Given the description of an element on the screen output the (x, y) to click on. 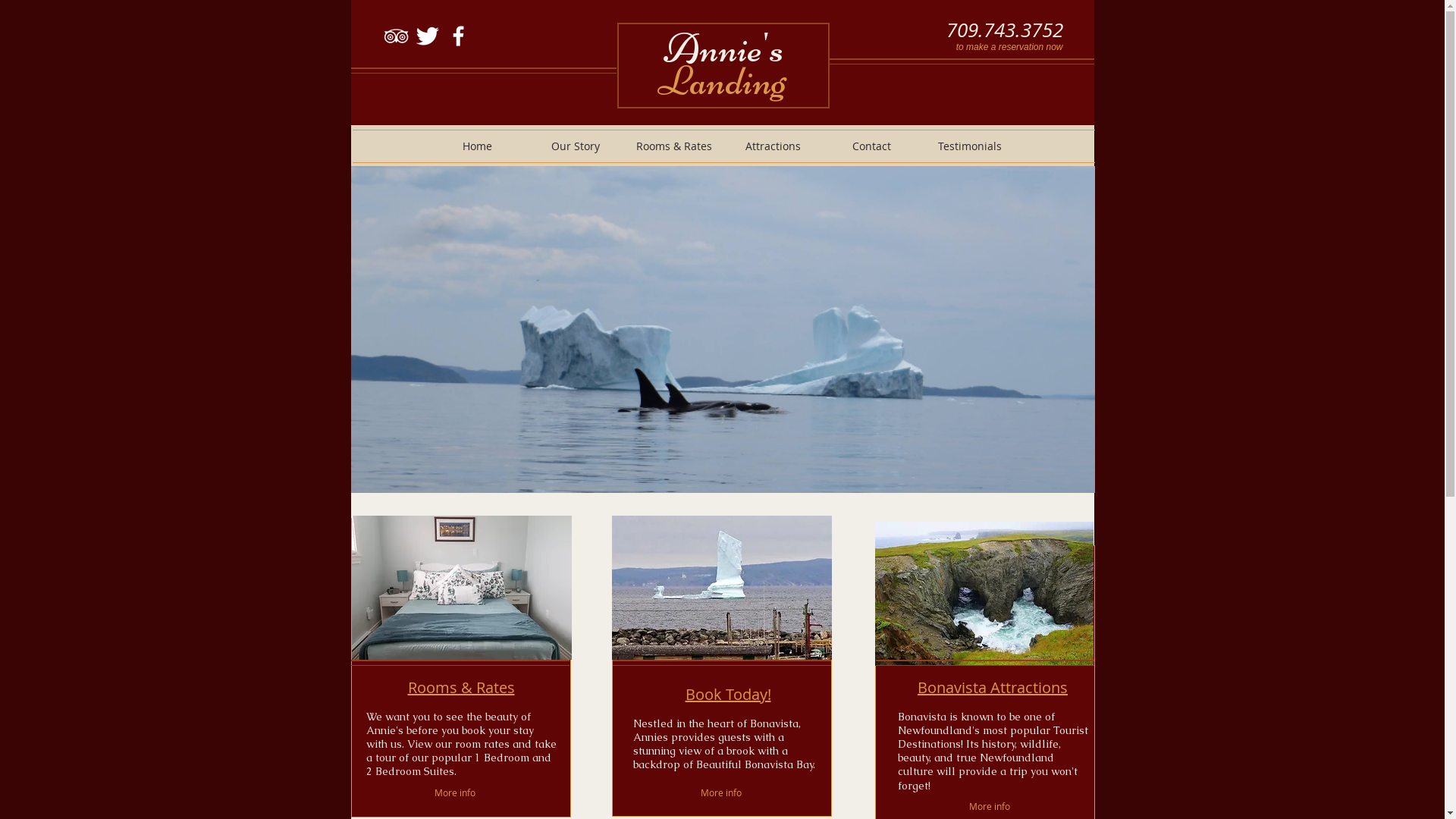
rsz_bonavista_iceberg.jpg Element type: hover (721, 587)
More info Element type: text (992, 806)
Testimonials Element type: text (969, 146)
Landing Element type: text (722, 80)
Annie's Element type: text (723, 47)
Rooms & Rates Element type: text (460, 687)
Bonavista Attractions Element type: text (992, 687)
Attractions Element type: text (772, 146)
Home Element type: text (476, 146)
Dungeon Bonavista.jpg Element type: hover (984, 593)
Contact Element type: text (871, 146)
More info Element type: text (454, 792)
More info Element type: text (721, 791)
Book Today! Element type: text (728, 694)
Rooms & Rates Element type: text (673, 146)
Our Story Element type: text (575, 146)
IMG_3268.jpg Element type: hover (461, 587)
